Given the description of an element on the screen output the (x, y) to click on. 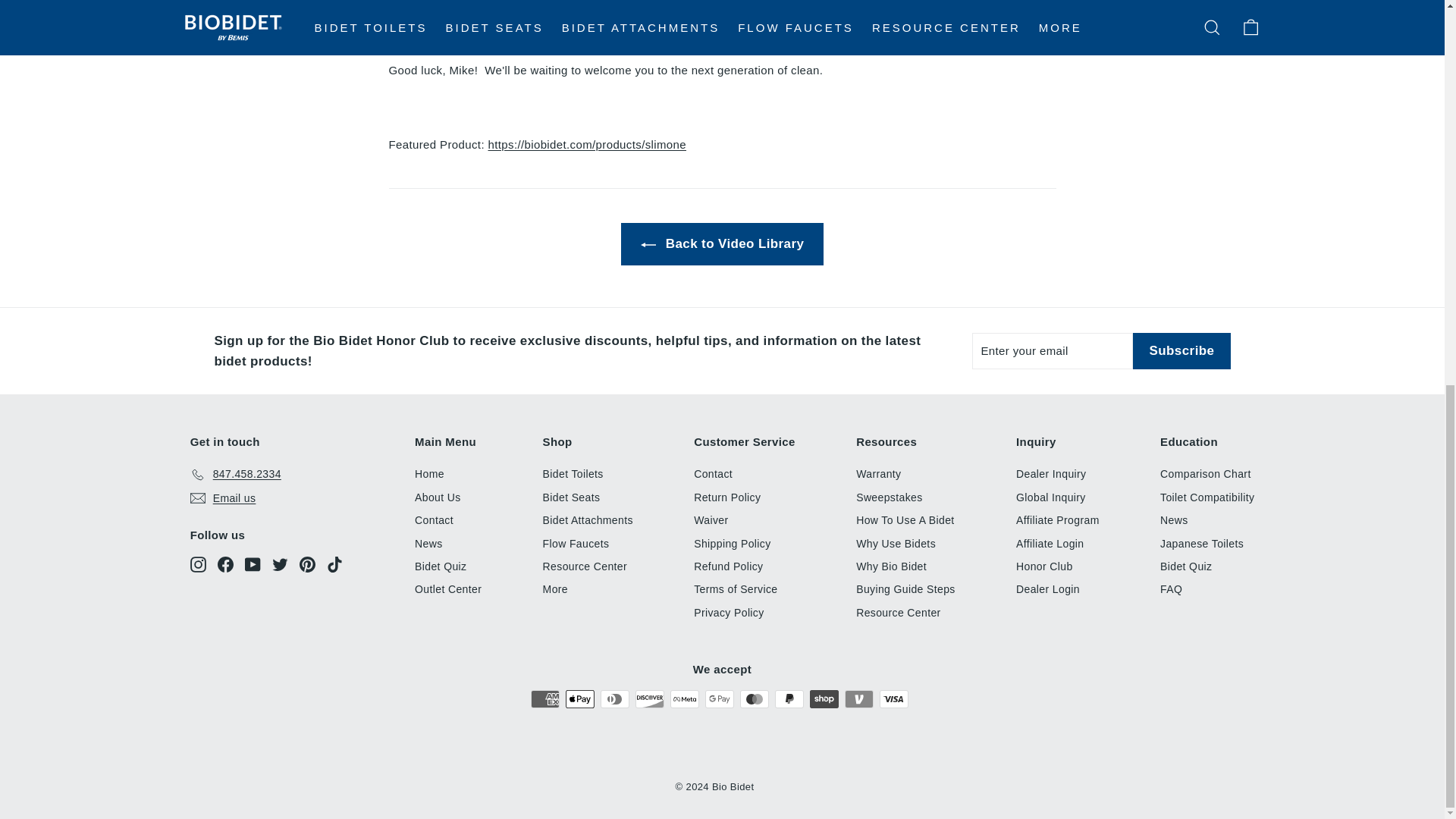
Diners Club (613, 699)
Bio Bidet on TikTok (334, 564)
Bio Bidet on Facebook (224, 564)
Bio Bidet on YouTube (252, 564)
Bio Bidet on Pinterest (307, 564)
Discover (648, 699)
American Express (545, 699)
Apple Pay (580, 699)
PayPal (788, 699)
Bio Bidet on Instagram (198, 564)
